Given the description of an element on the screen output the (x, y) to click on. 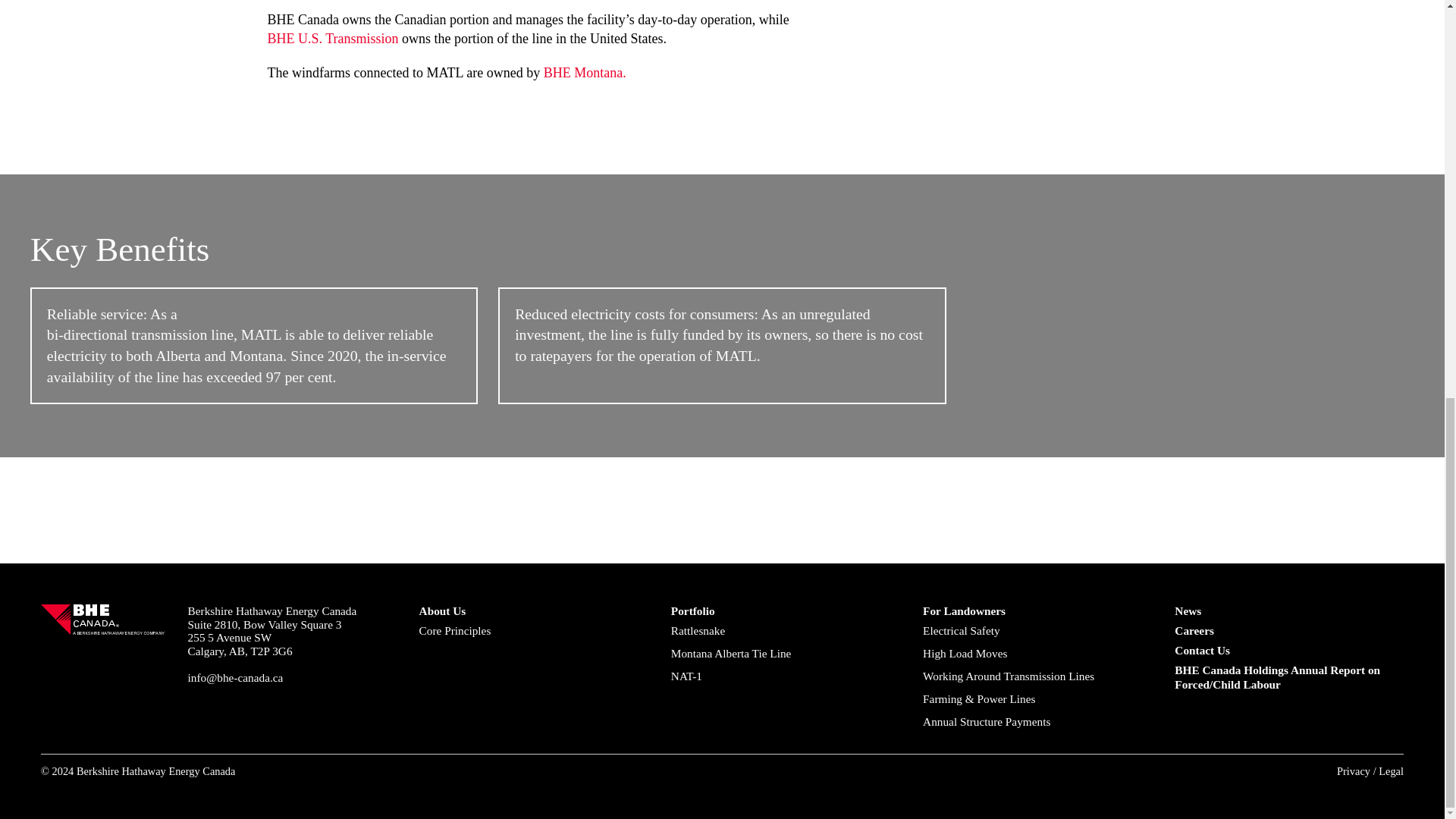
Electrical Safety (1037, 631)
Working Around Transmission Lines (1037, 676)
NAT-1 (785, 676)
Core Principles (533, 631)
Contact Us (1288, 650)
Annual Structure Payments (1037, 721)
BHE Montana. (584, 72)
Careers (1288, 631)
Montana Alberta Tie Line (785, 653)
For Landowners (1037, 611)
